Given the description of an element on the screen output the (x, y) to click on. 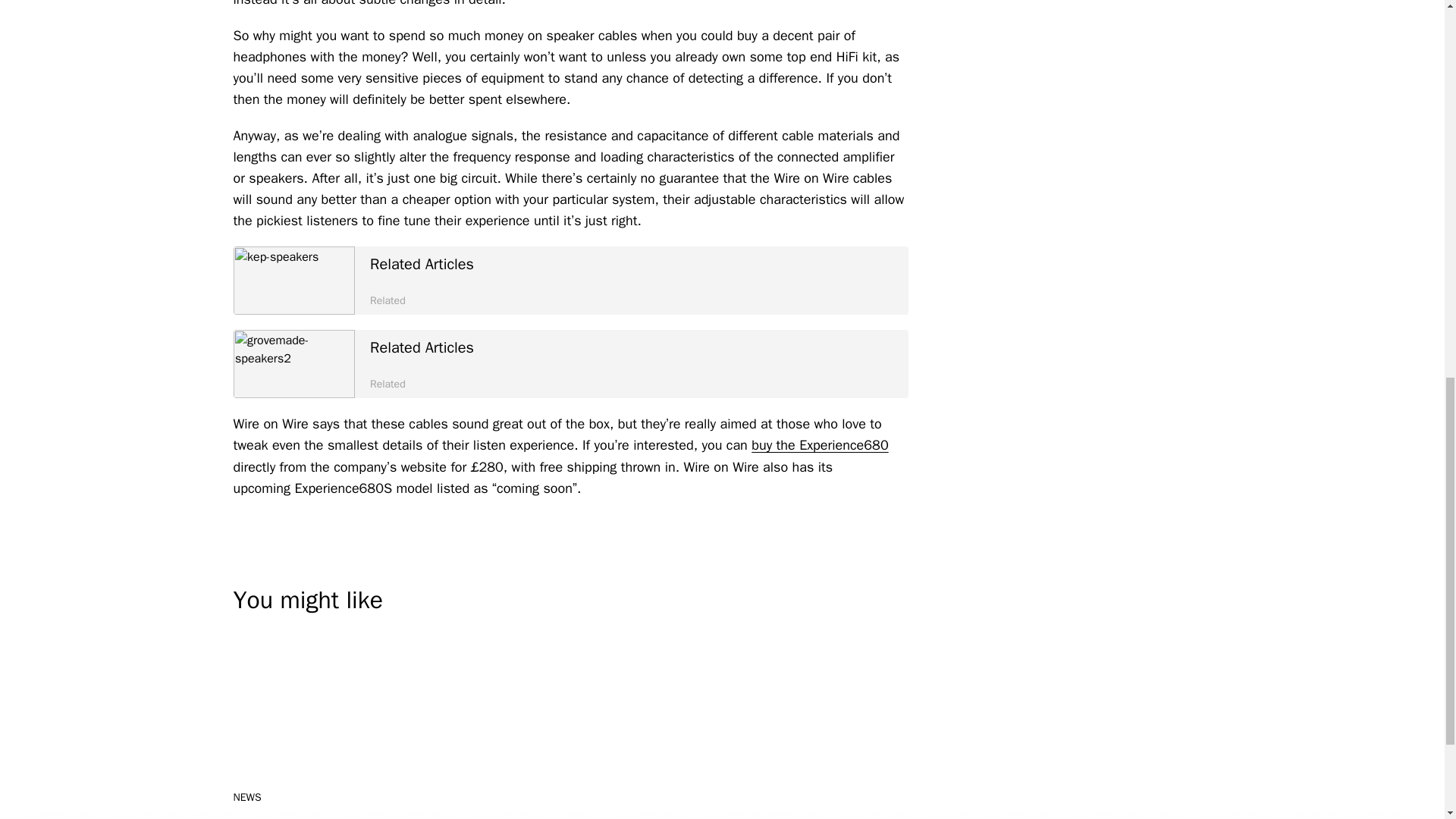
buy the Experience680 (819, 444)
NEWS (247, 797)
grovemade-speakers2 (293, 364)
kep-speakers (570, 364)
